Given the description of an element on the screen output the (x, y) to click on. 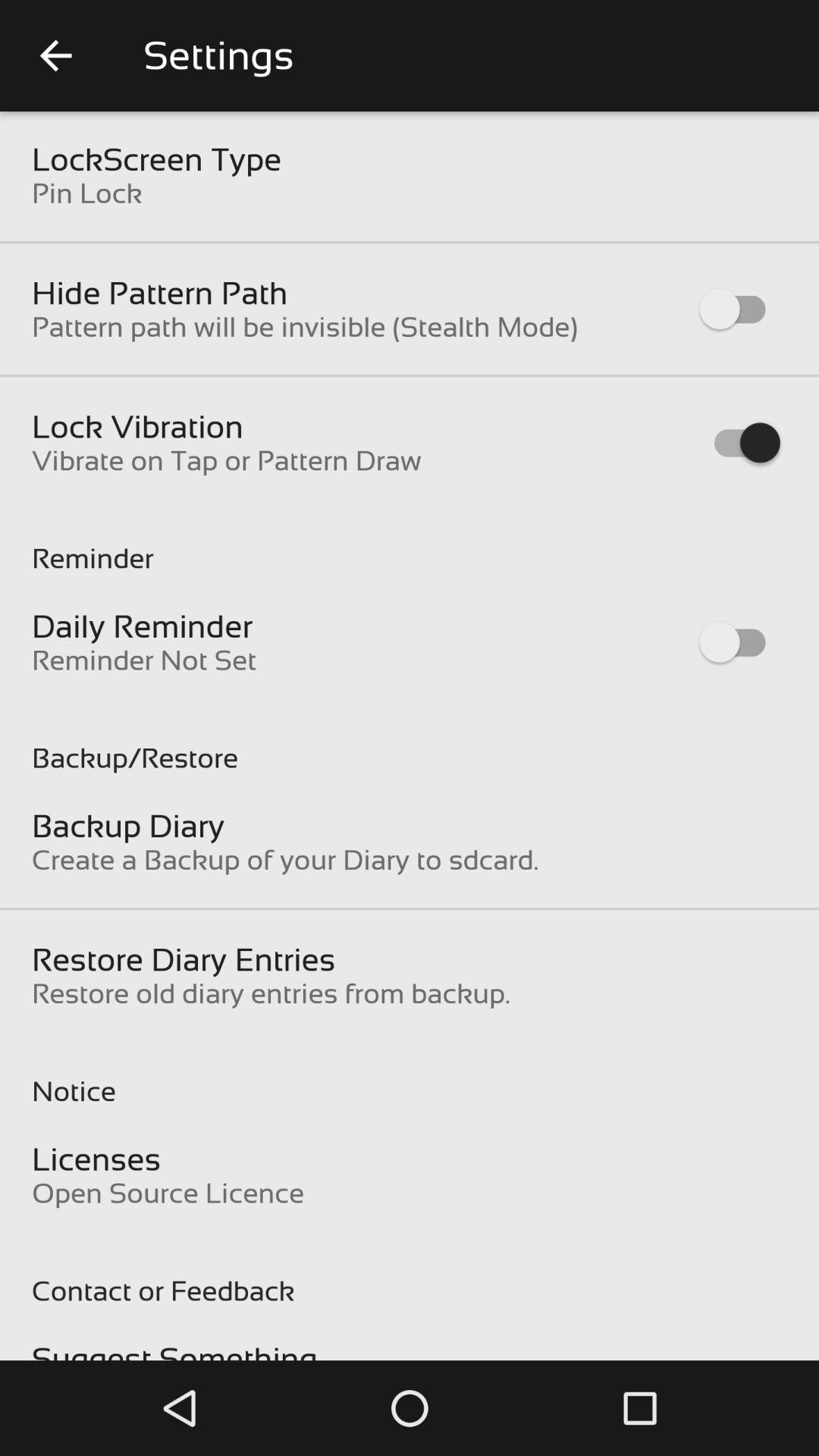
turn on lock vibration item (137, 426)
